Given the description of an element on the screen output the (x, y) to click on. 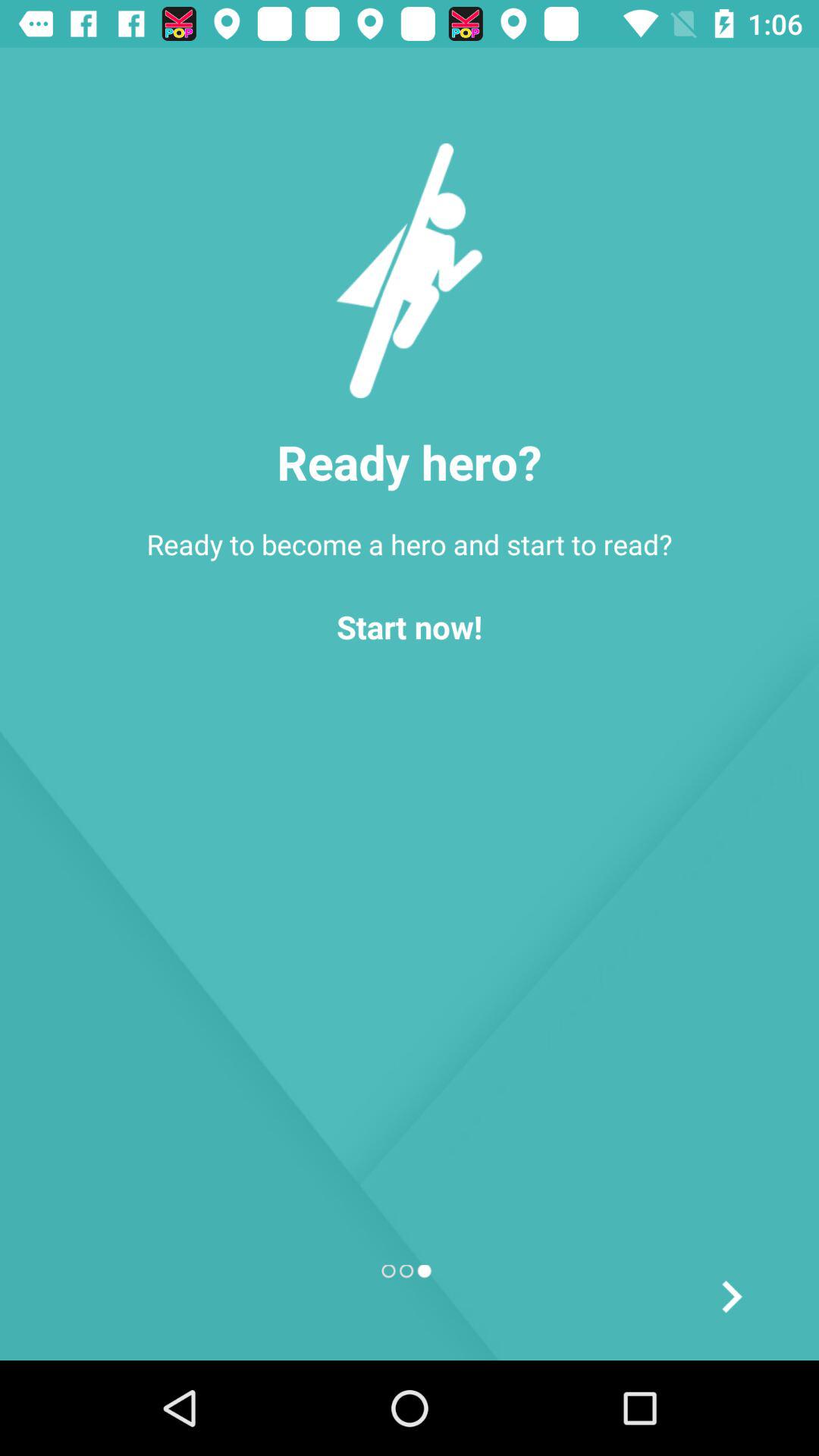
forward button (731, 1296)
